Given the description of an element on the screen output the (x, y) to click on. 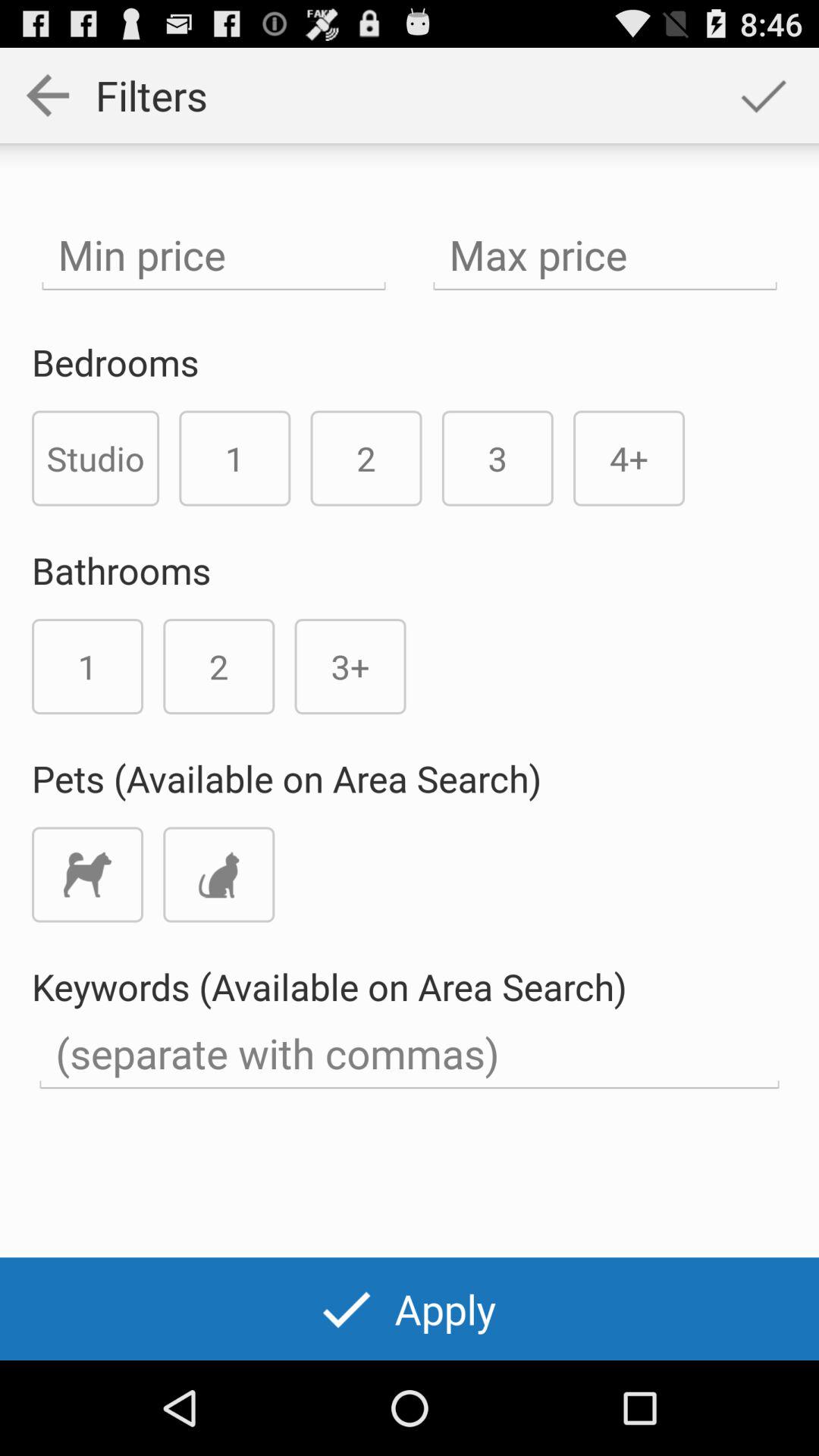
choose the icon next to 1 (95, 458)
